Given the description of an element on the screen output the (x, y) to click on. 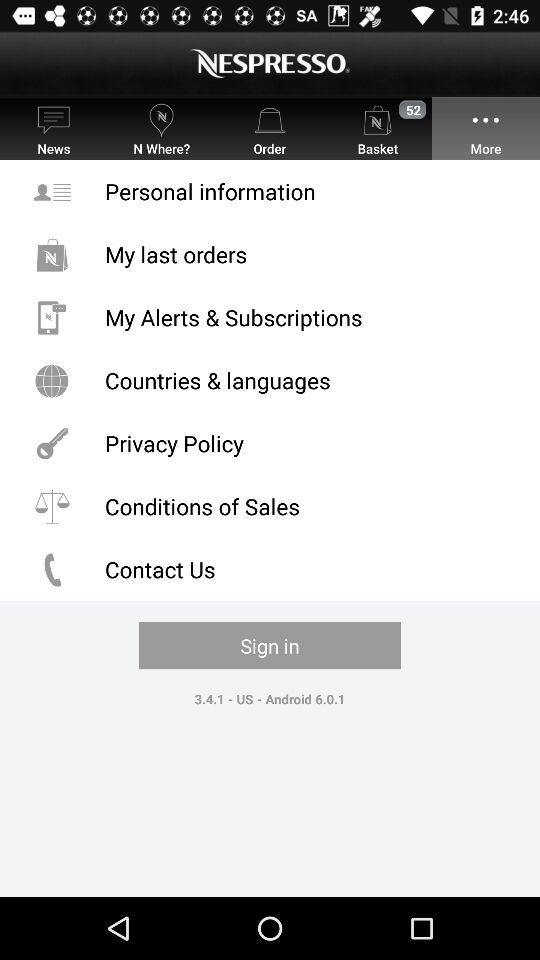
jump until my last orders (270, 254)
